Given the description of an element on the screen output the (x, y) to click on. 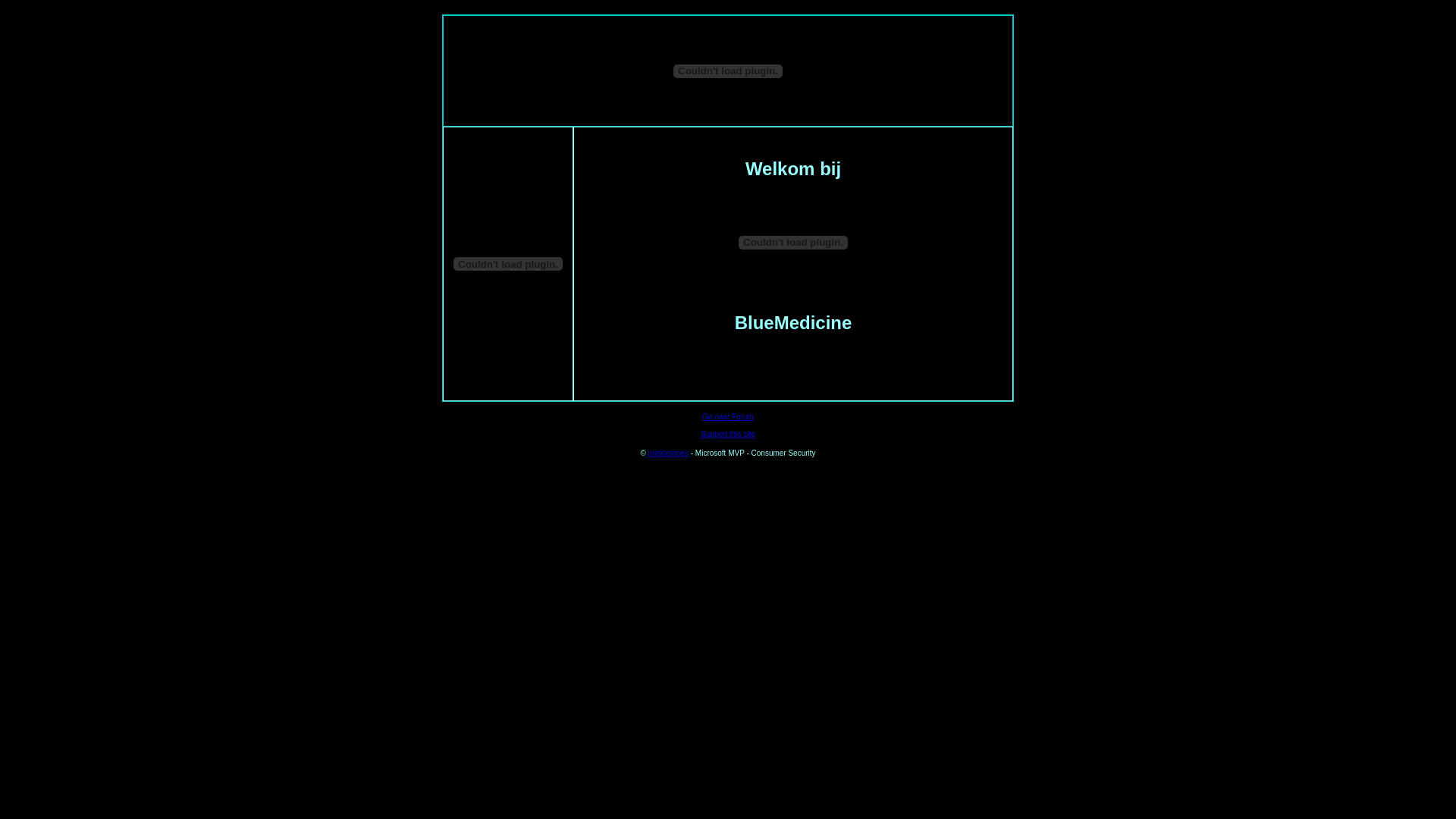
Ga naar Forum Element type: text (727, 416)
Support this site Element type: text (727, 433)
miekiemoes Element type: text (668, 452)
